Given the description of an element on the screen output the (x, y) to click on. 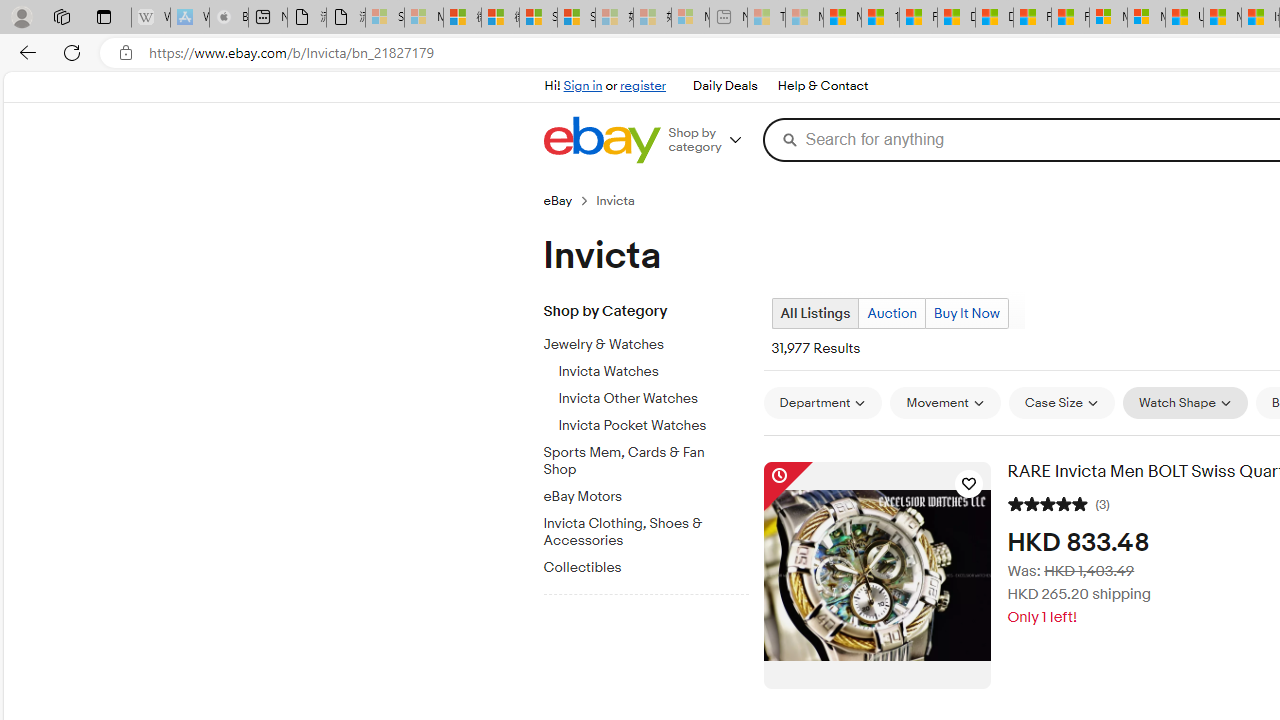
Movement (944, 402)
Case Size (1061, 403)
eBay Home (601, 139)
Watch Shape (1185, 403)
Invicta Watches (653, 372)
Movement (944, 403)
Food and Drink - MSN (917, 17)
Auction (891, 313)
Buy It Now (966, 313)
New tab - Sleeping (728, 17)
